Given the description of an element on the screen output the (x, y) to click on. 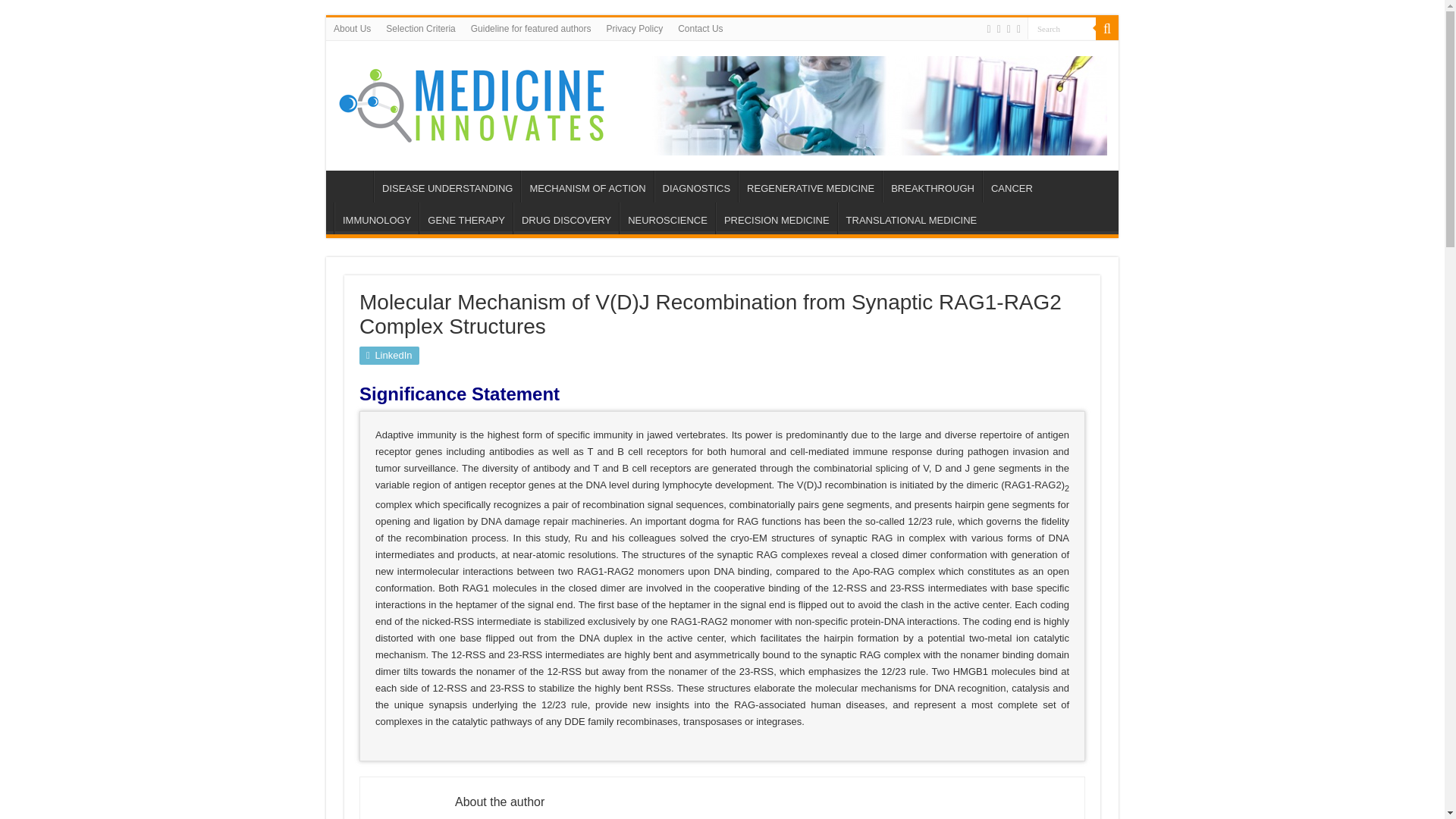
Selection Criteria (420, 28)
IMMUNOLOGY (376, 218)
Contact Us (699, 28)
Search (1107, 28)
BREAKTHROUGH TECHNOLOGIES (931, 186)
Search (1061, 28)
GENE THERAPY (465, 218)
BREAKTHROUGH (931, 186)
DIAGNOSTICS (695, 186)
